Given the description of an element on the screen output the (x, y) to click on. 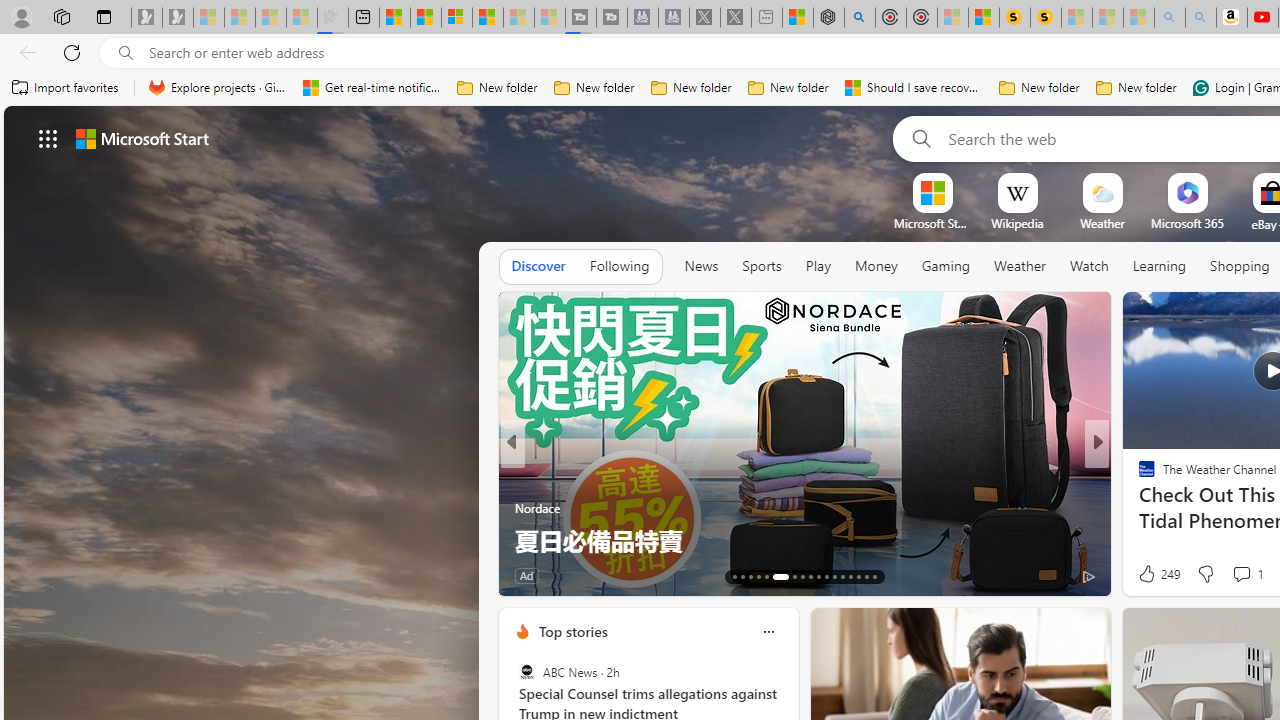
View comments 192 Comment (1247, 574)
Streaming Coverage | T3 - Sleeping (580, 17)
206 Like (1151, 574)
Newsletter Sign Up - Sleeping (177, 17)
AutomationID: tab-15 (750, 576)
Wikipedia (1017, 223)
AutomationID: tab-18 (774, 576)
View comments 257 Comment (11, 575)
Shopping (1240, 265)
Scripps News (1138, 475)
AutomationID: tab-27 (857, 576)
